Given the description of an element on the screen output the (x, y) to click on. 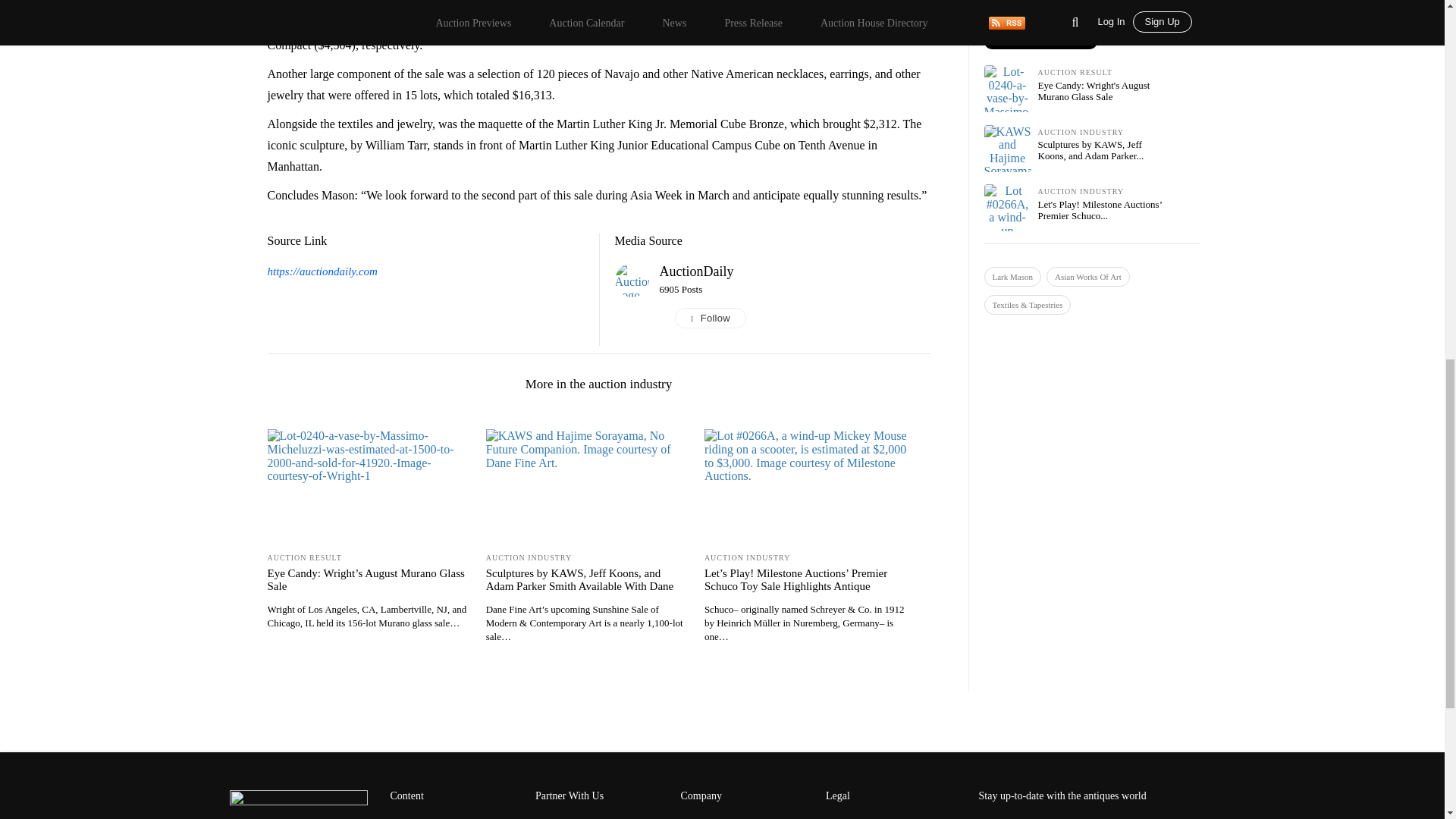
View Media Source (696, 271)
Follow (795, 318)
AuctionDaily (696, 271)
